Given the description of an element on the screen output the (x, y) to click on. 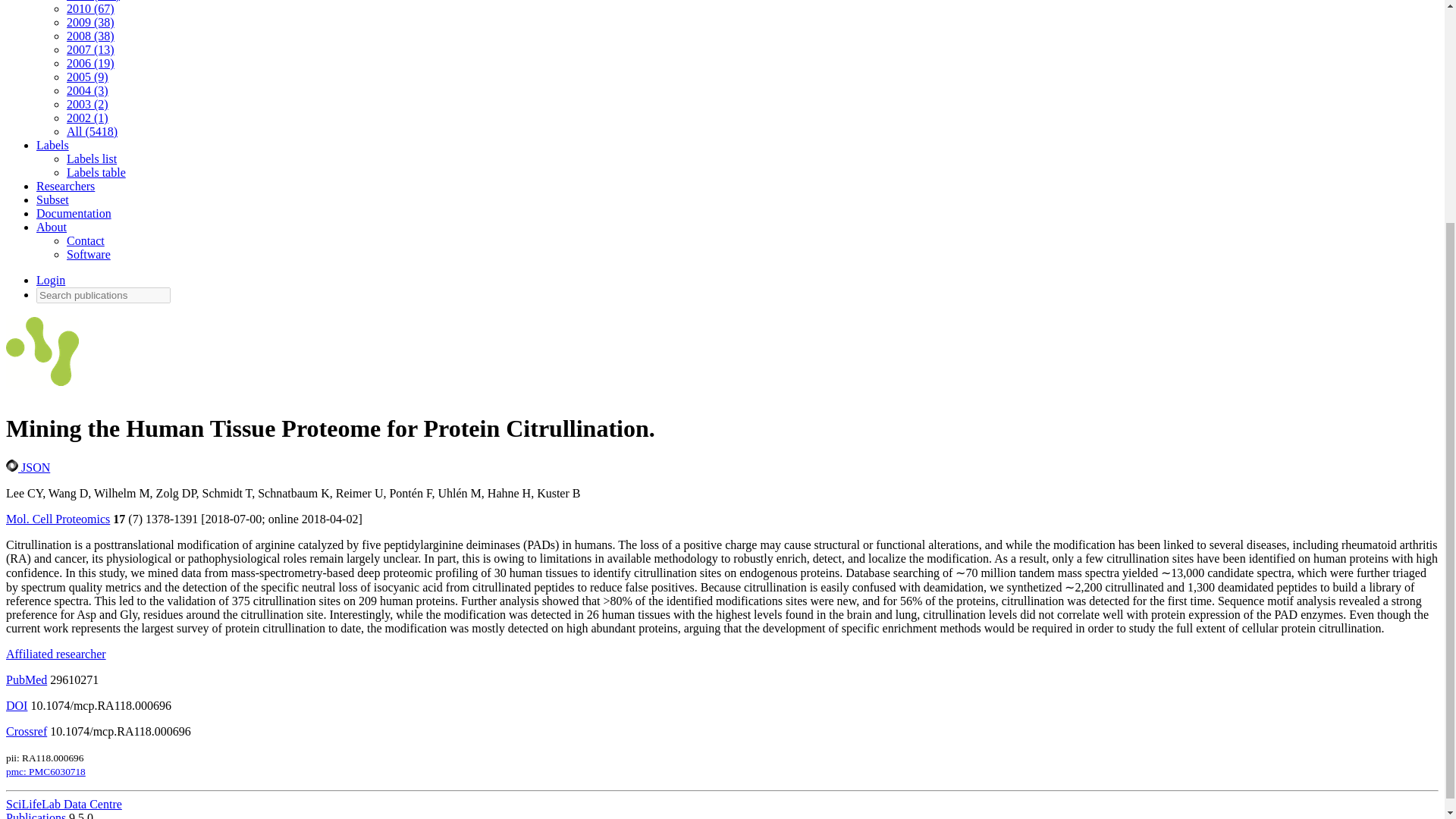
Labels table (95, 172)
Login (50, 279)
Software (88, 254)
About (51, 226)
Subset (52, 199)
Labels list (91, 158)
Labels (52, 144)
Researchers (65, 185)
Documentation (74, 213)
Contact (85, 240)
